Given the description of an element on the screen output the (x, y) to click on. 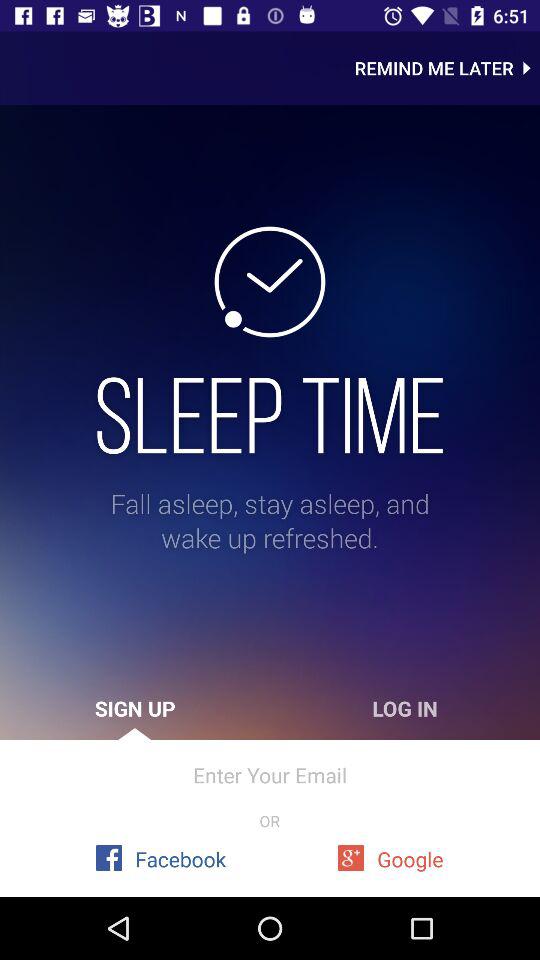
press the sign up item (135, 707)
